Given the description of an element on the screen output the (x, y) to click on. 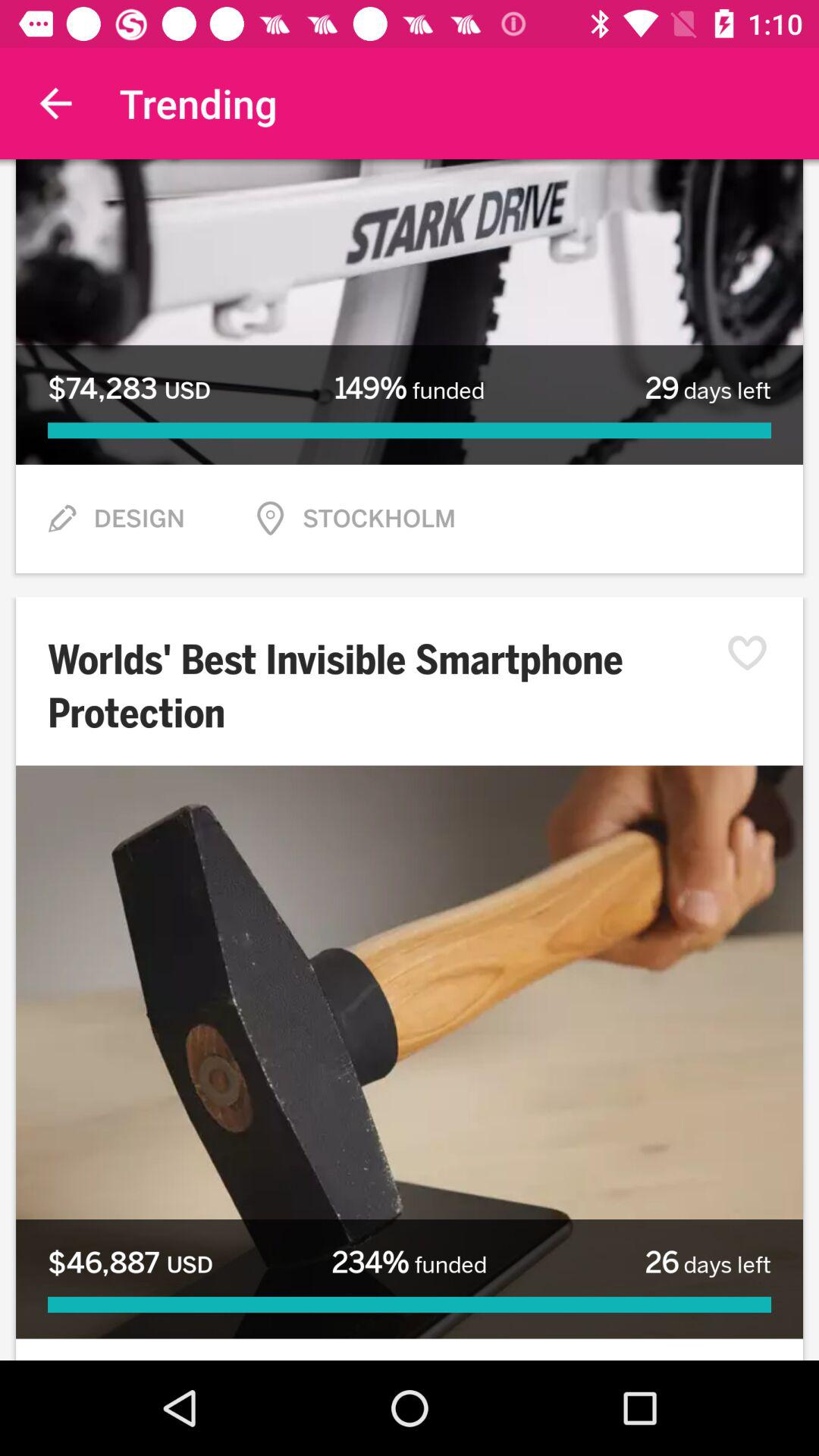
press icon at the bottom left corner (129, 1262)
